Given the description of an element on the screen output the (x, y) to click on. 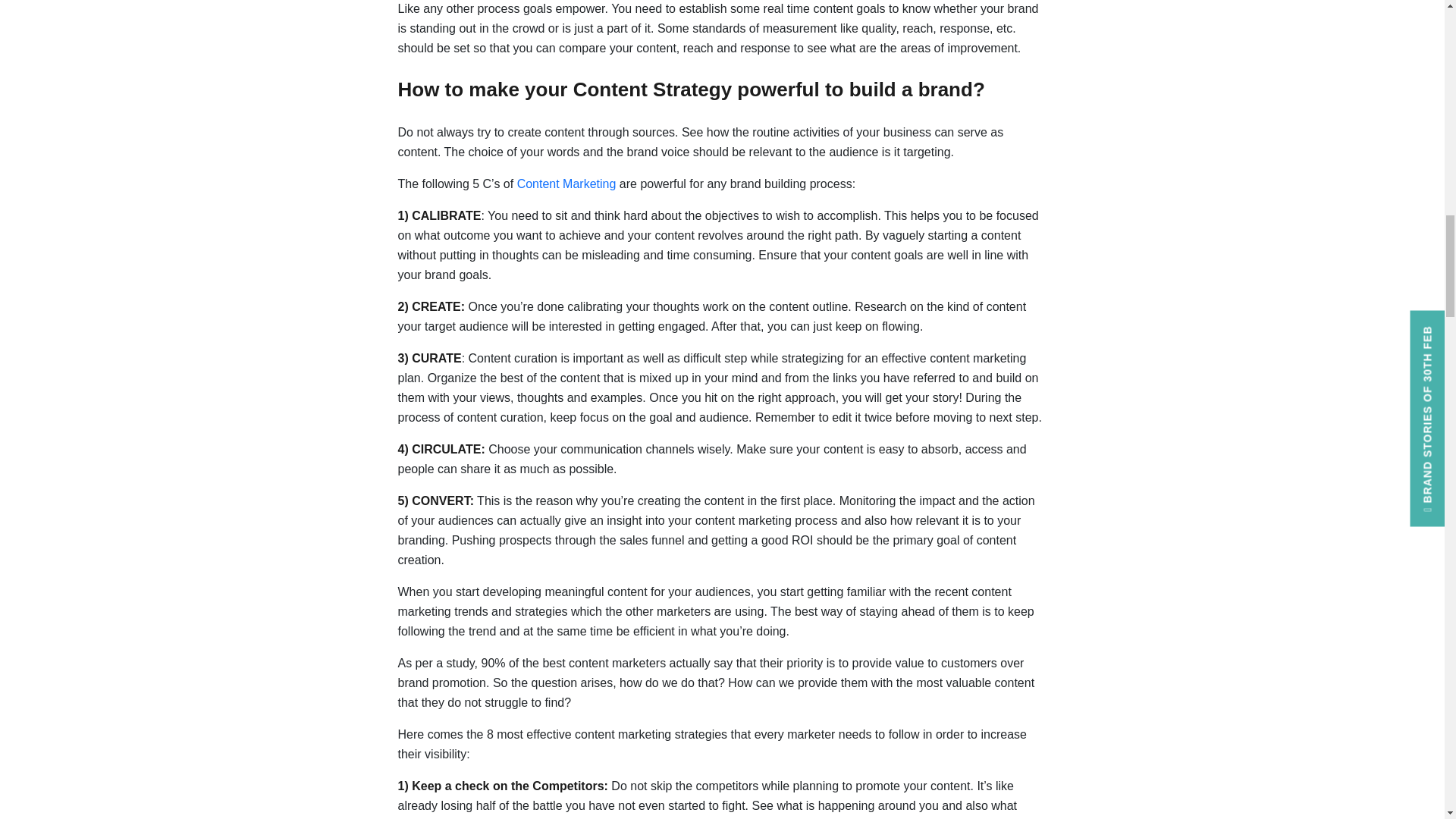
Content Marketing (565, 183)
